Given the description of an element on the screen output the (x, y) to click on. 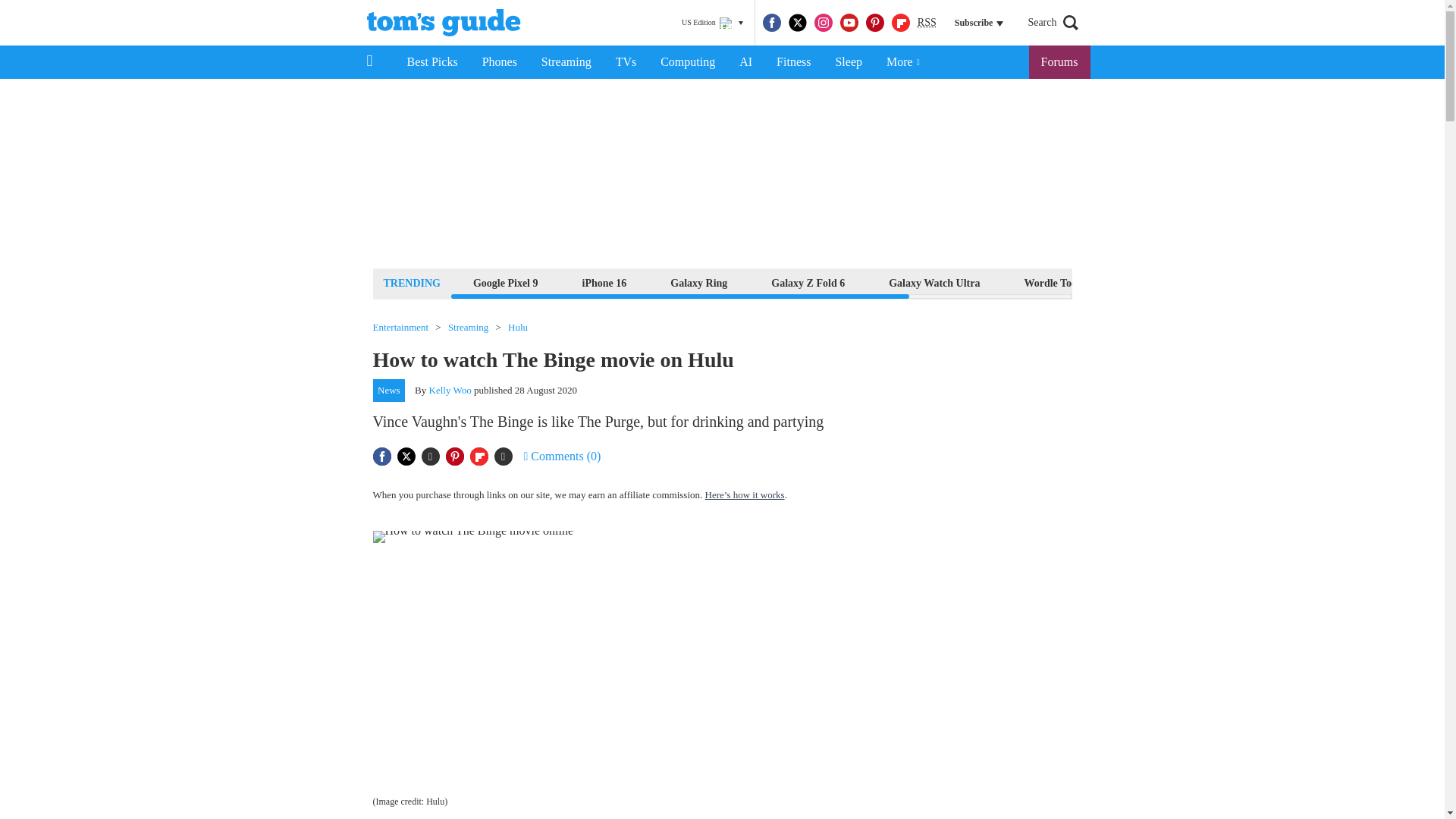
Really Simple Syndication (926, 21)
Streaming (566, 61)
Fitness (793, 61)
US Edition (712, 22)
Computing (686, 61)
Best Picks (431, 61)
Sleep (848, 61)
AI (745, 61)
TVs (626, 61)
Phones (499, 61)
RSS (926, 22)
